Given the description of an element on the screen output the (x, y) to click on. 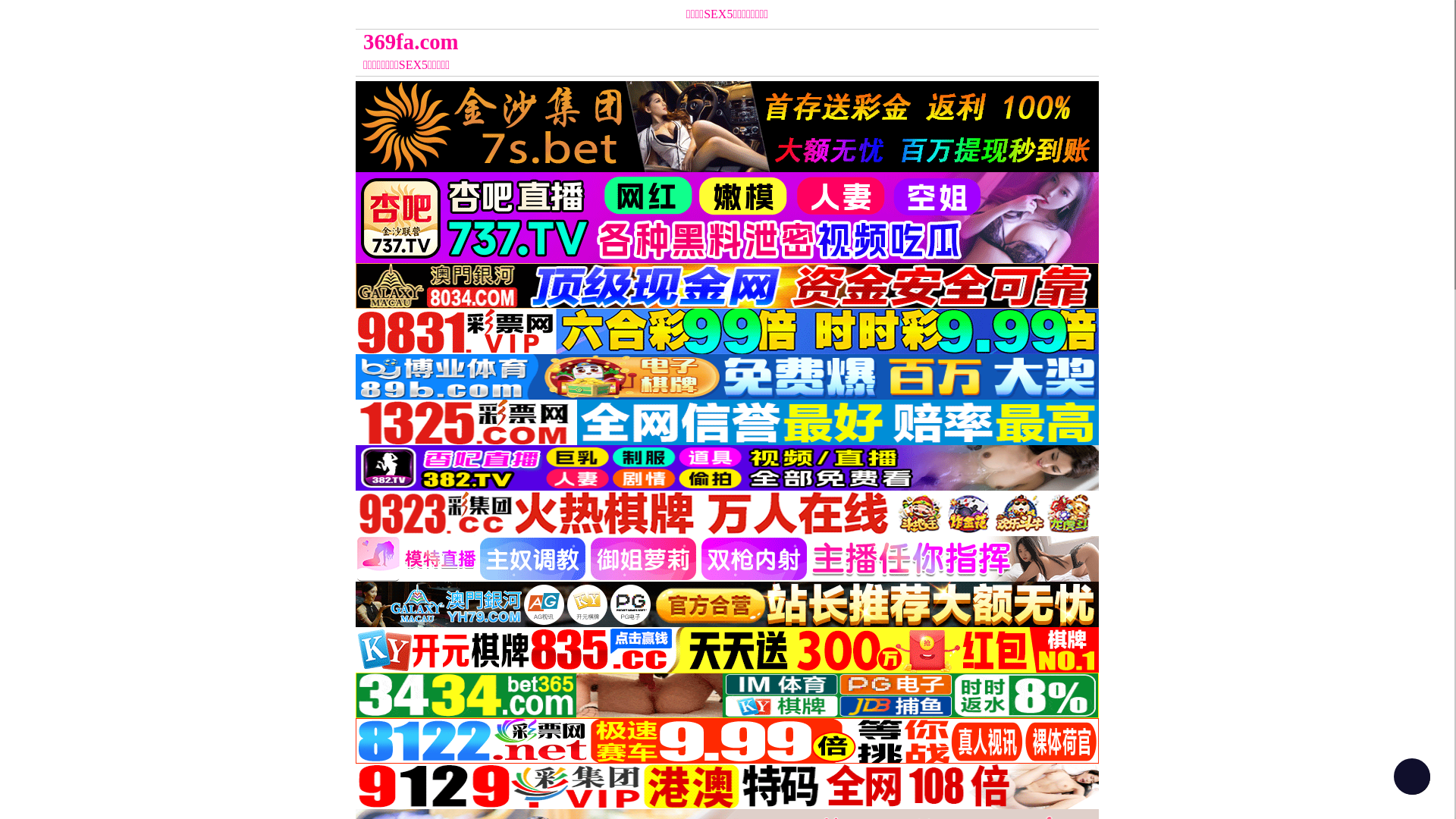
369fa.com Element type: text (634, 41)
